Given the description of an element on the screen output the (x, y) to click on. 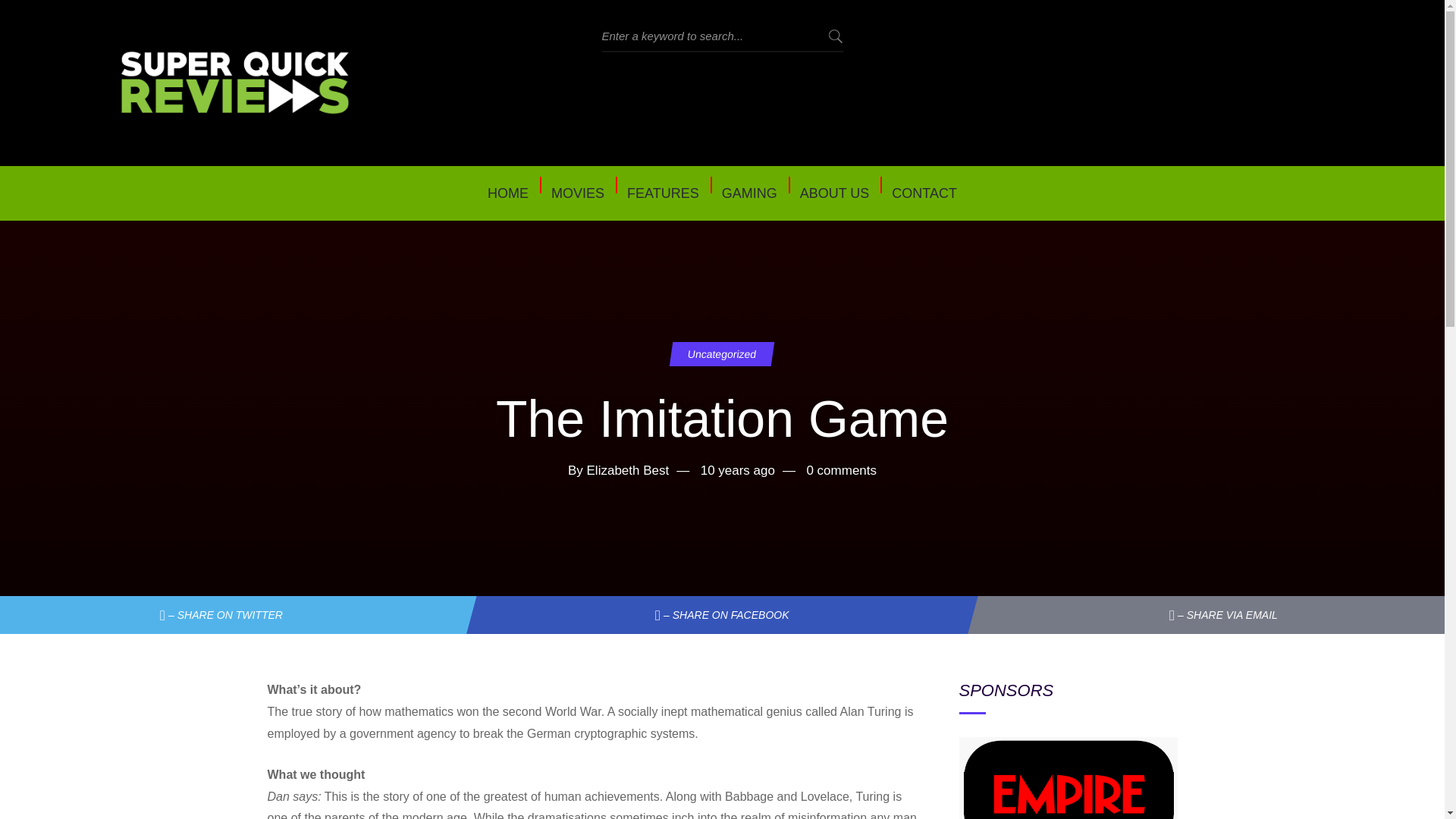
Twitter (232, 614)
FEATURES (662, 193)
Share on Facebook (717, 614)
GAMING (749, 193)
HOME (508, 193)
MOVIES (577, 193)
ABOUT US (834, 193)
Uncategorized (720, 354)
SuperQuickReviews (234, 83)
Elizabeth Best (627, 470)
